Given the description of an element on the screen output the (x, y) to click on. 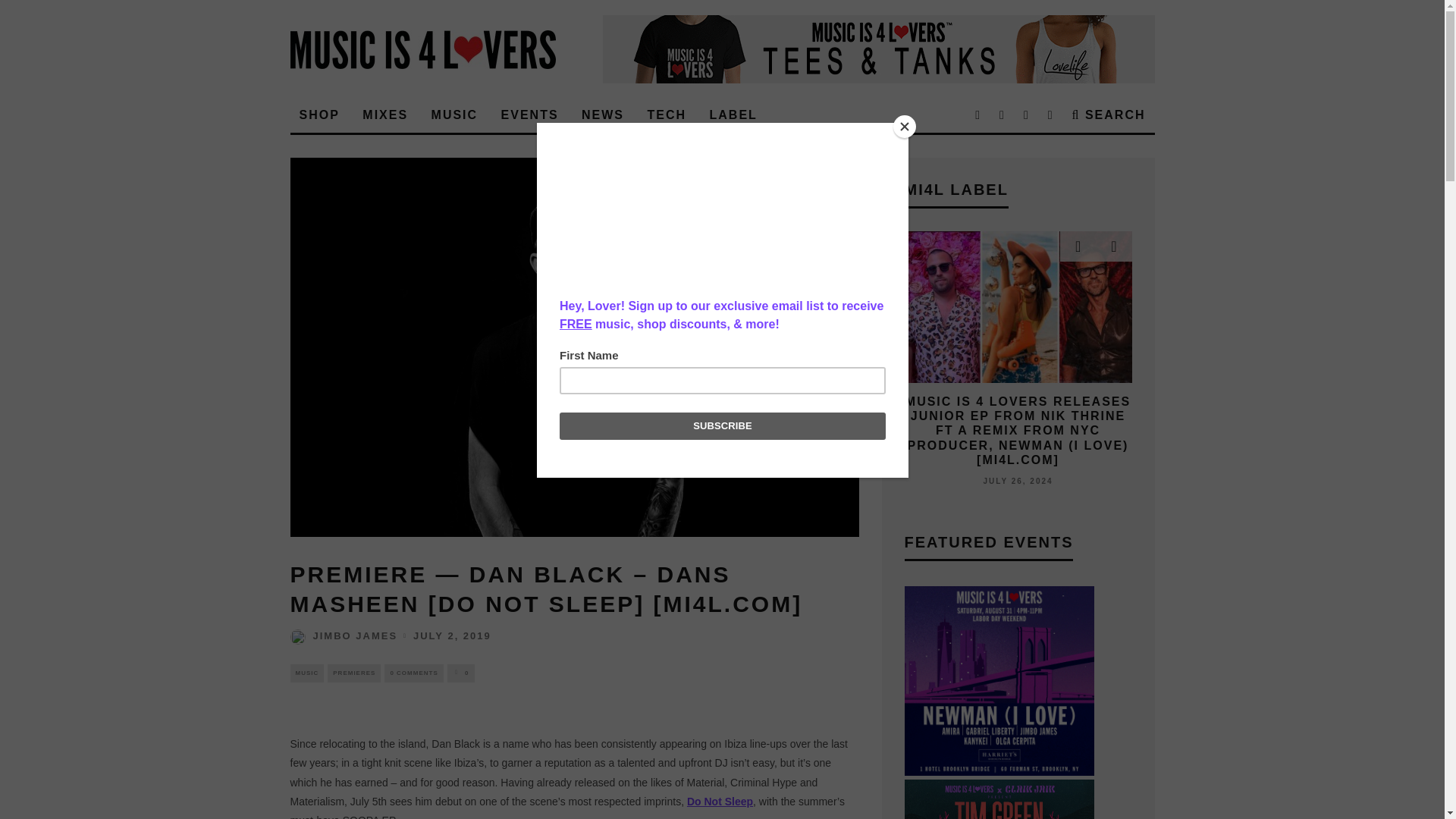
Search (1108, 115)
View all posts in PREMIERES (353, 673)
View all posts in MUSIC (306, 673)
Log In (721, 409)
